Given the description of an element on the screen output the (x, y) to click on. 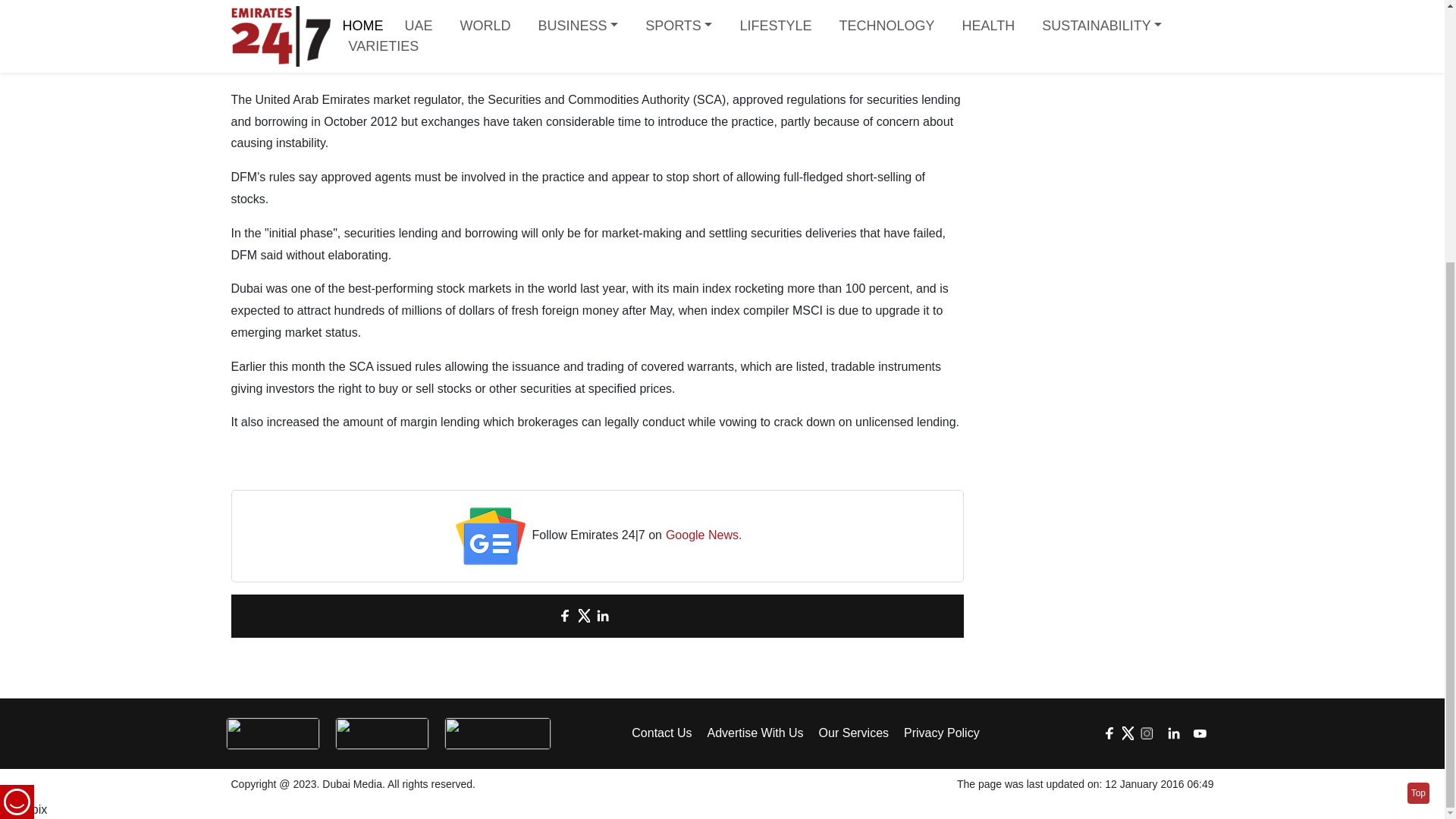
Go to top (1418, 416)
Google News. (703, 536)
